Given the description of an element on the screen output the (x, y) to click on. 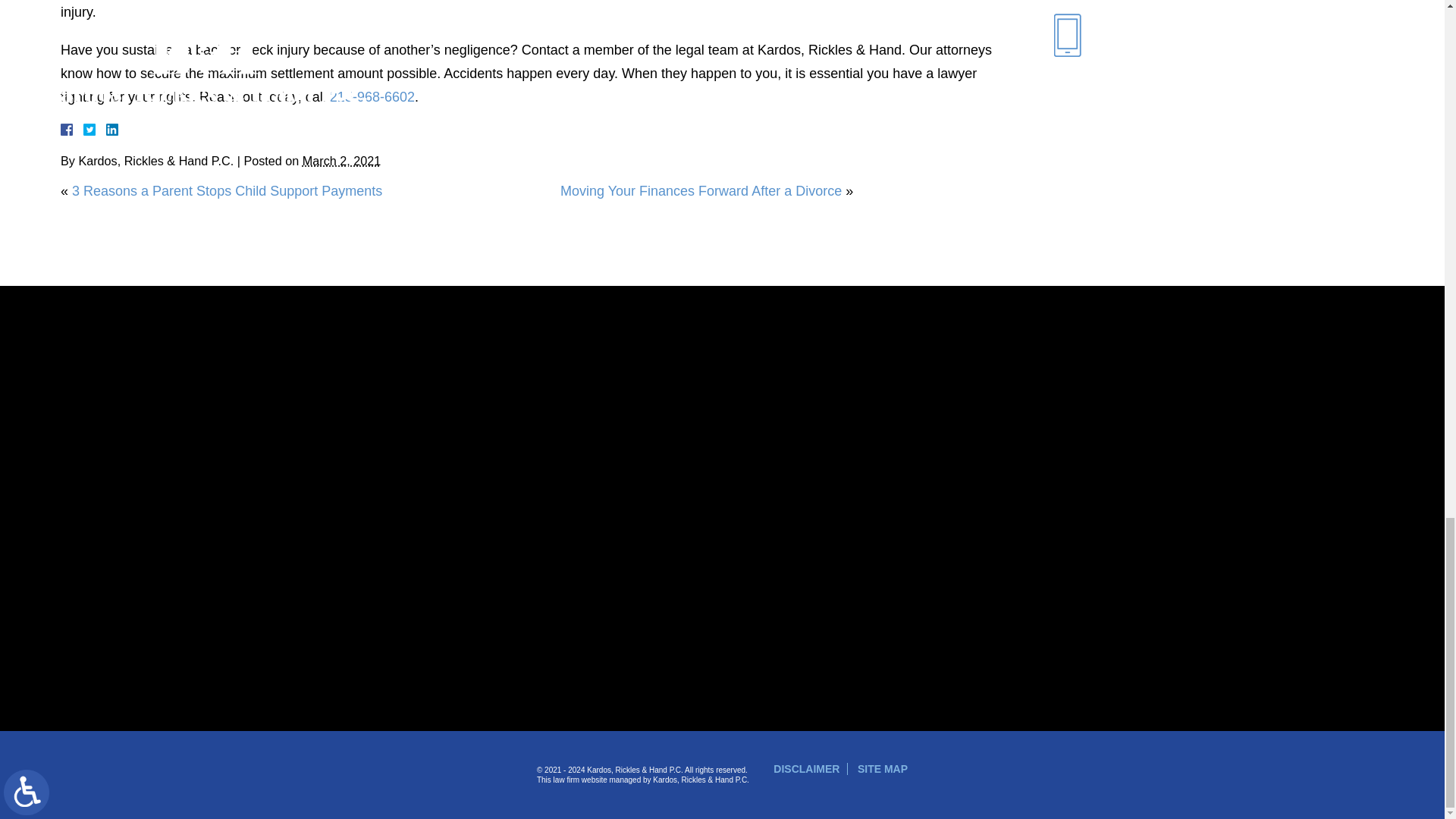
2021-03-02T03:00:47-0800 (341, 160)
Facebook (85, 129)
LinkedIn (106, 129)
Twitter (95, 129)
